Given the description of an element on the screen output the (x, y) to click on. 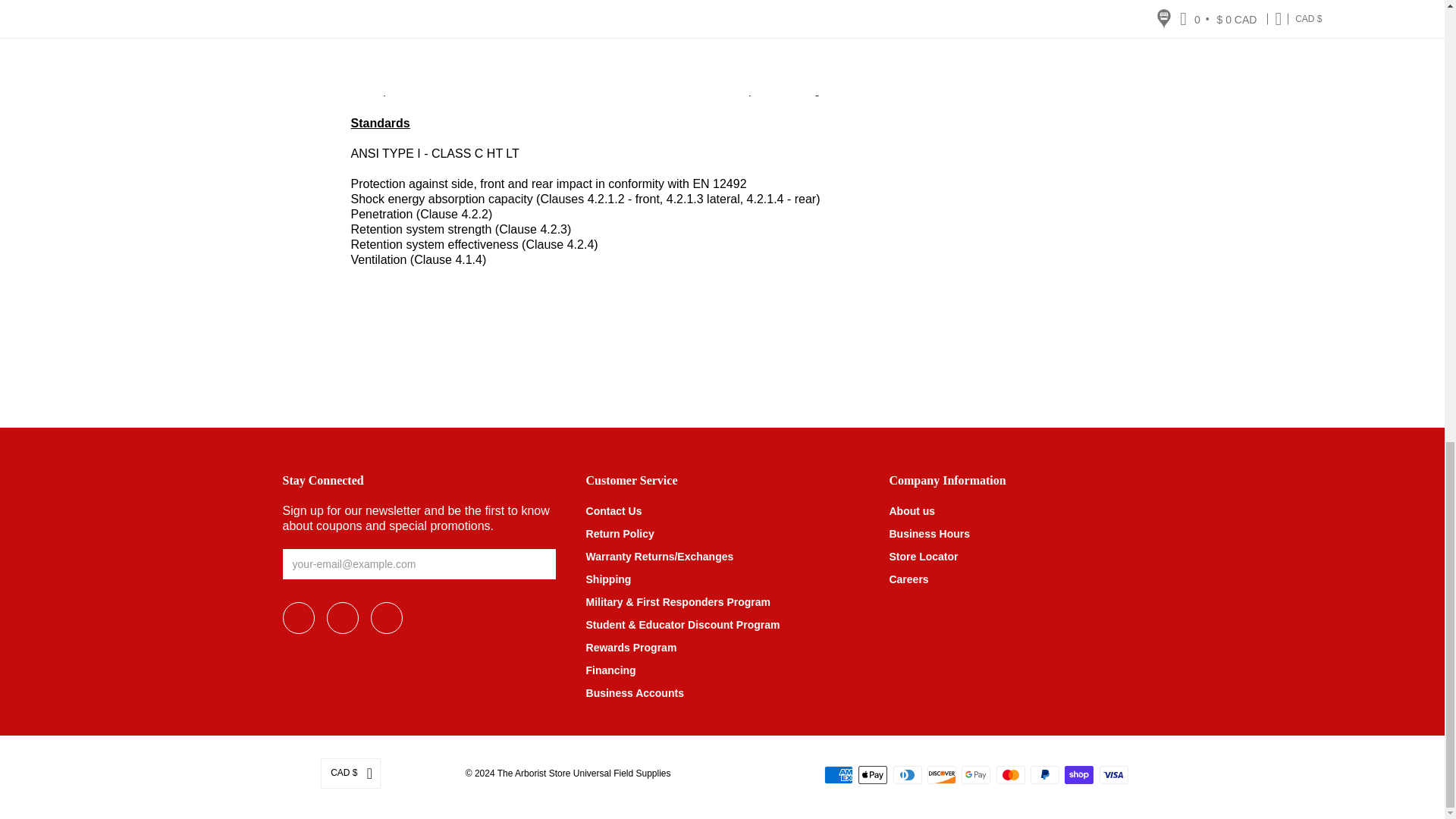
Google Pay (975, 774)
Discover (941, 774)
American Express (838, 774)
Mastercard (1010, 774)
Shop Pay (1078, 774)
Apple Pay (872, 774)
Visa (1113, 774)
Diners Club (907, 774)
PayPal (1044, 774)
